Given the description of an element on the screen output the (x, y) to click on. 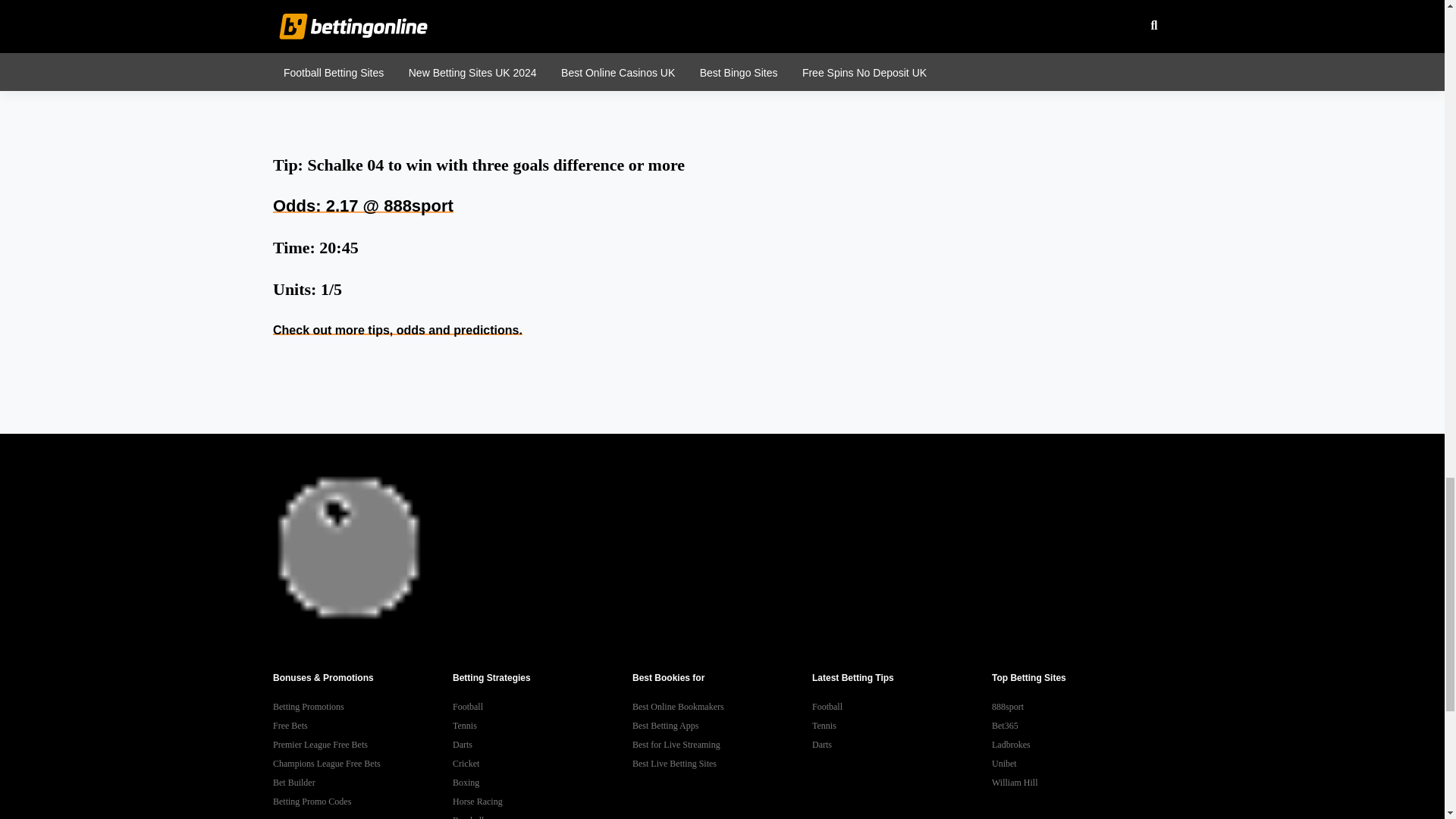
Cricket (541, 763)
Free Bets (362, 725)
Bet Builder (362, 782)
Betting Promotions (362, 706)
Best Online Bookmakers (721, 706)
Baseball (541, 815)
Champions League Free Bets (362, 763)
Premier League Free Bets (362, 744)
Tennis (541, 725)
Horse Racing (541, 801)
Best Betting Apps (721, 725)
Boxing (541, 782)
Betting Promo Codes (362, 801)
Check out more tips, odds and predictions. (397, 329)
Darts (541, 744)
